Given the description of an element on the screen output the (x, y) to click on. 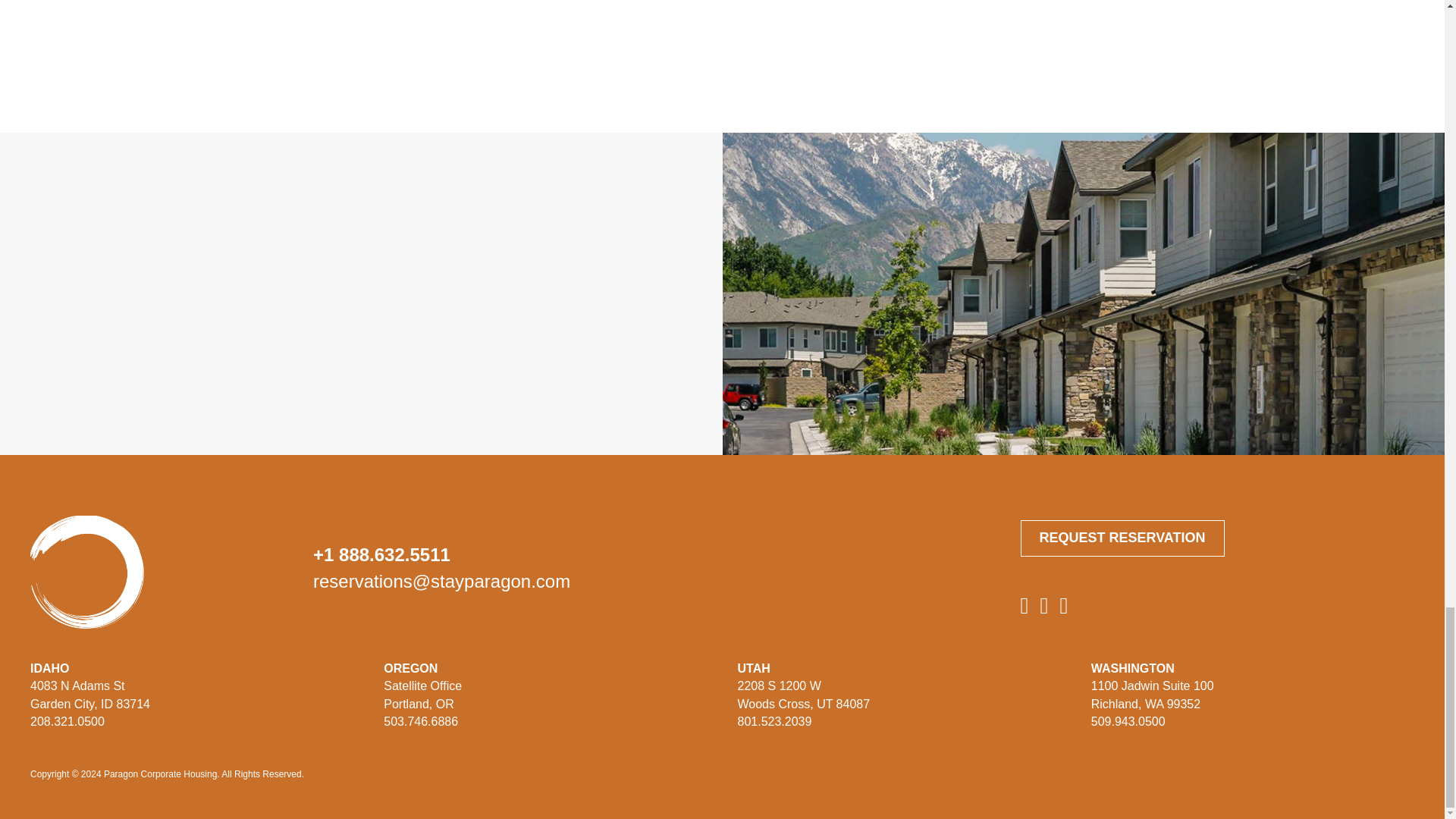
pch-favicon-white (87, 572)
